Given the description of an element on the screen output the (x, y) to click on. 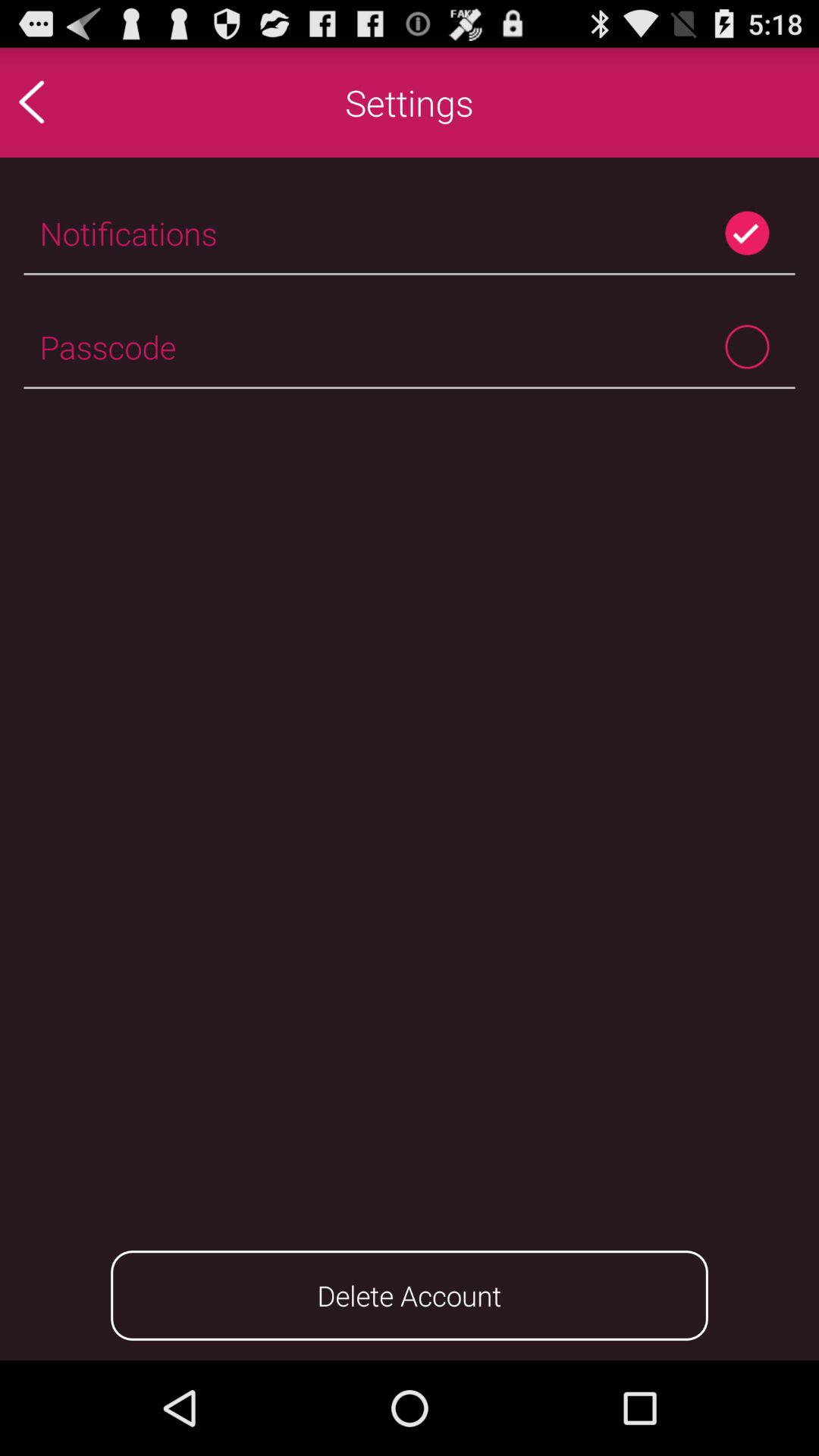
press delete account item (409, 1295)
